Given the description of an element on the screen output the (x, y) to click on. 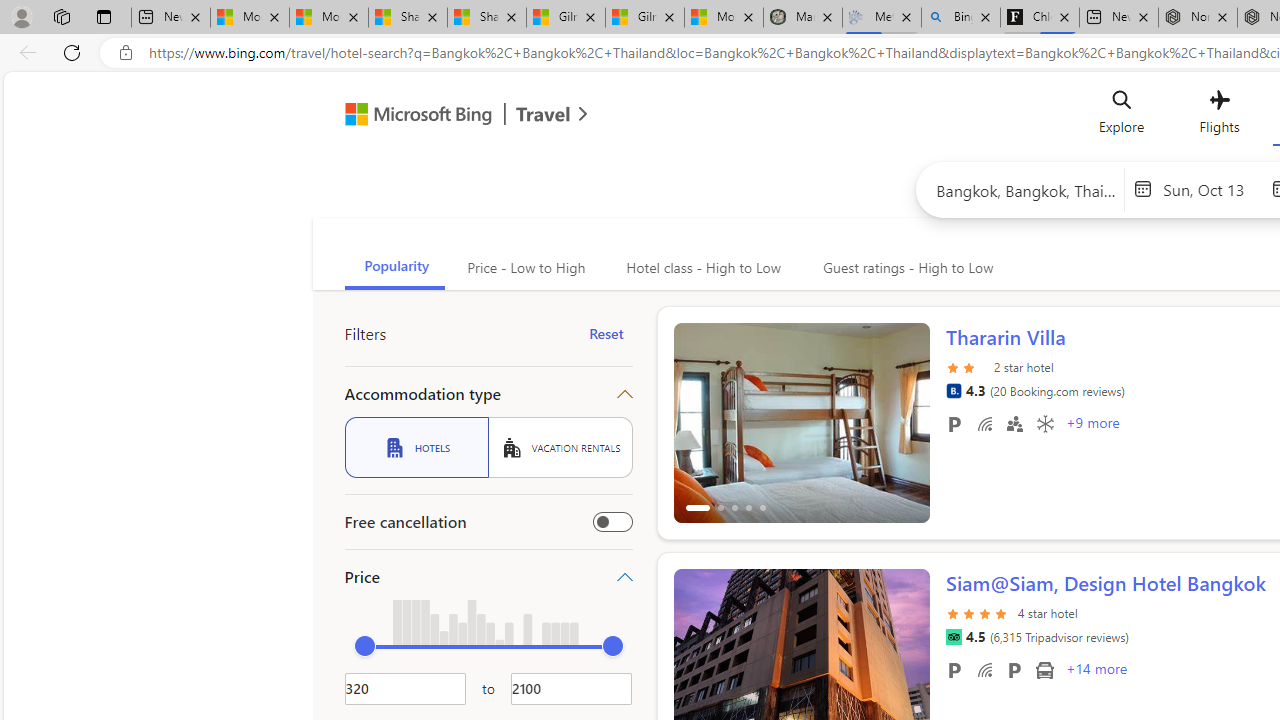
Nordace - #1 Japanese Best-Seller - Siena Smart Backpack (1197, 17)
Free parking (953, 669)
Class: msft-bing-logo msft-bing-logo-desktop (413, 114)
star rating (978, 612)
HOTELS (416, 447)
Family friendly (1014, 423)
+9 More Amenities (1092, 425)
Reset (606, 333)
Shanghai, China weather forecast | Microsoft Weather (487, 17)
Travel (543, 116)
Guest ratings - High to Low (905, 268)
Valet parking (1014, 669)
Price (488, 576)
max  (612, 645)
Accommodation type (488, 393)
